Given the description of an element on the screen output the (x, y) to click on. 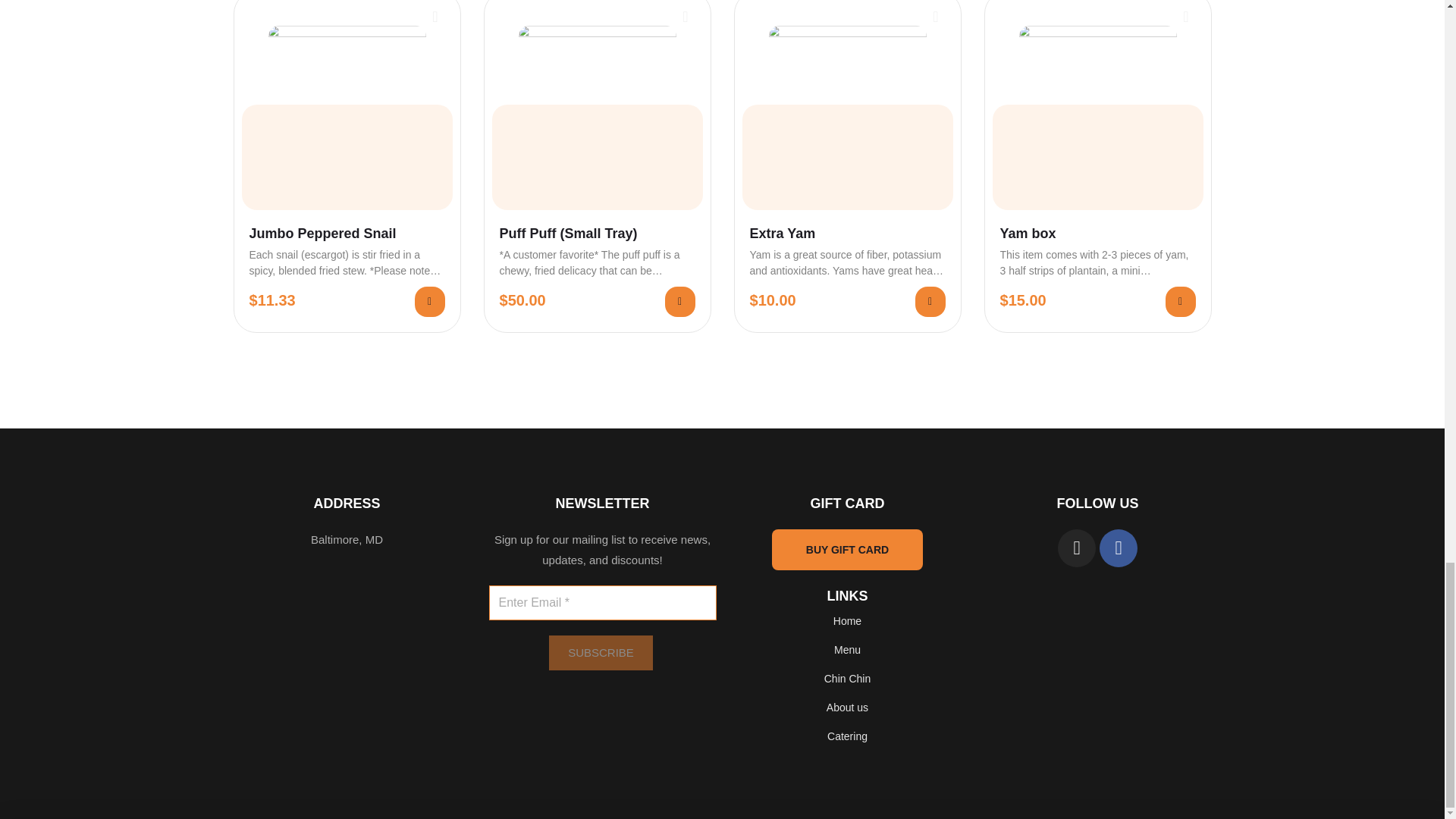
ADD TO WISHLIST (685, 16)
ADD TO CART (678, 301)
ADD TO WISHLIST (1186, 16)
ADD TO WISHLIST (435, 16)
Yam box (1096, 233)
ADD TO WISHLIST (935, 16)
ADD TO CART (929, 301)
Extra Yam (846, 233)
Jumbo Peppered Snail (346, 233)
ADD TO CART (428, 301)
